Given the description of an element on the screen output the (x, y) to click on. 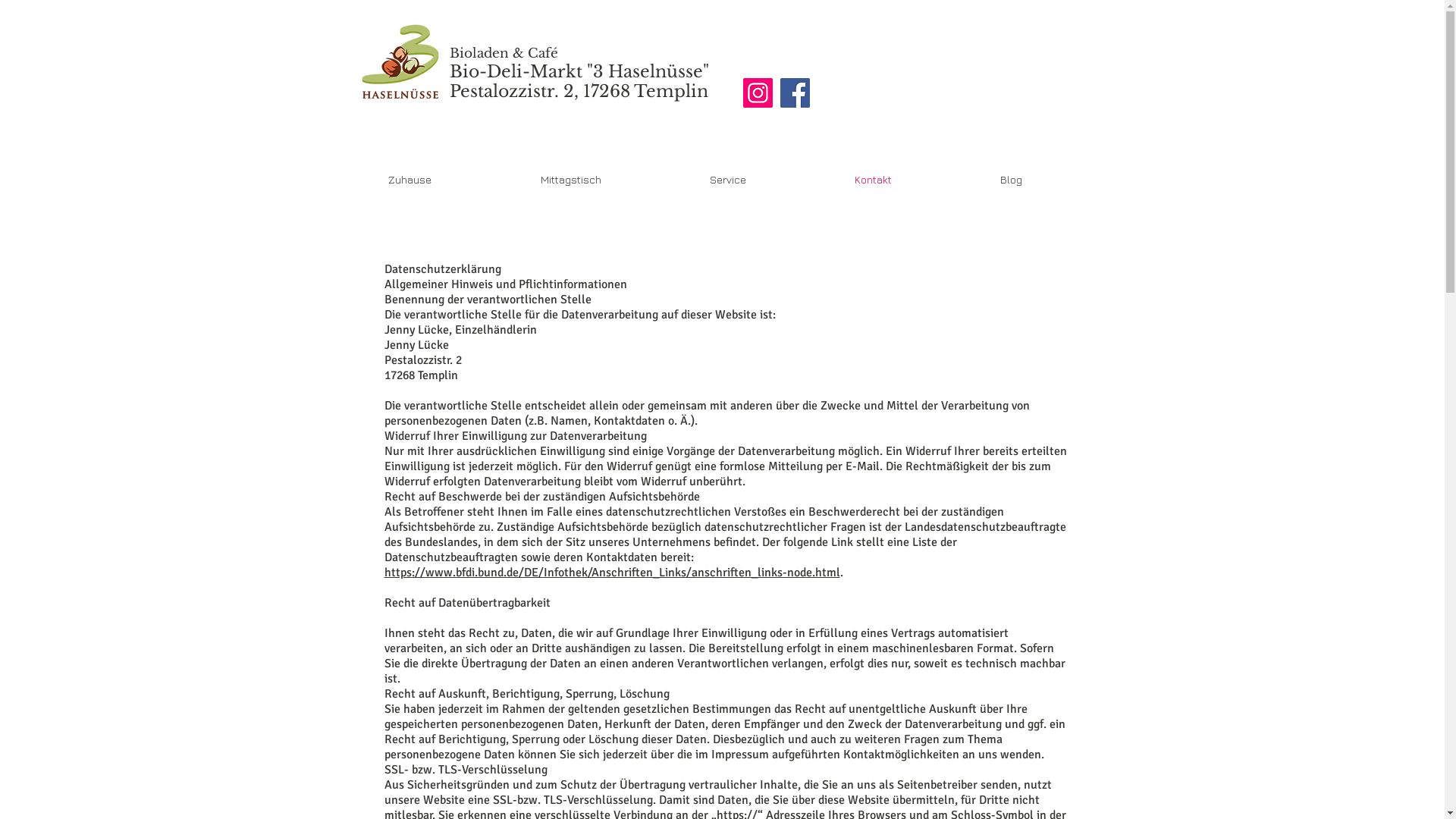
Blog Element type: text (1011, 179)
Service Element type: text (727, 179)
Kontakt Element type: text (873, 179)
Zuhause Element type: text (409, 179)
Mittagstisch Element type: text (570, 179)
